Given the description of an element on the screen output the (x, y) to click on. 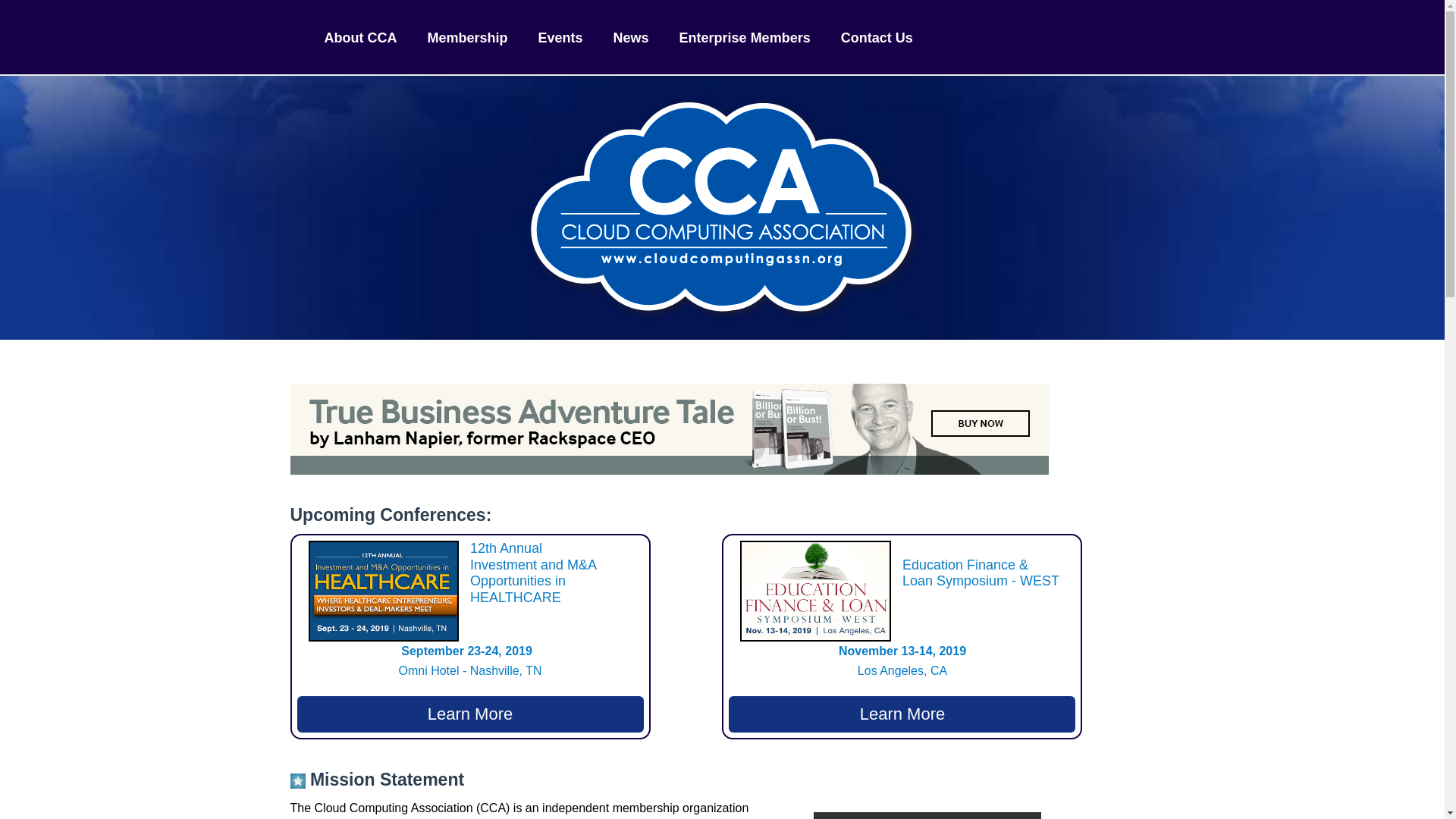
Learn More (469, 660)
Learn More (902, 660)
Enterprise Members (902, 714)
Contact Us (470, 714)
Events (744, 37)
About CCA (876, 37)
Membership (560, 37)
News (360, 37)
